Given the description of an element on the screen output the (x, y) to click on. 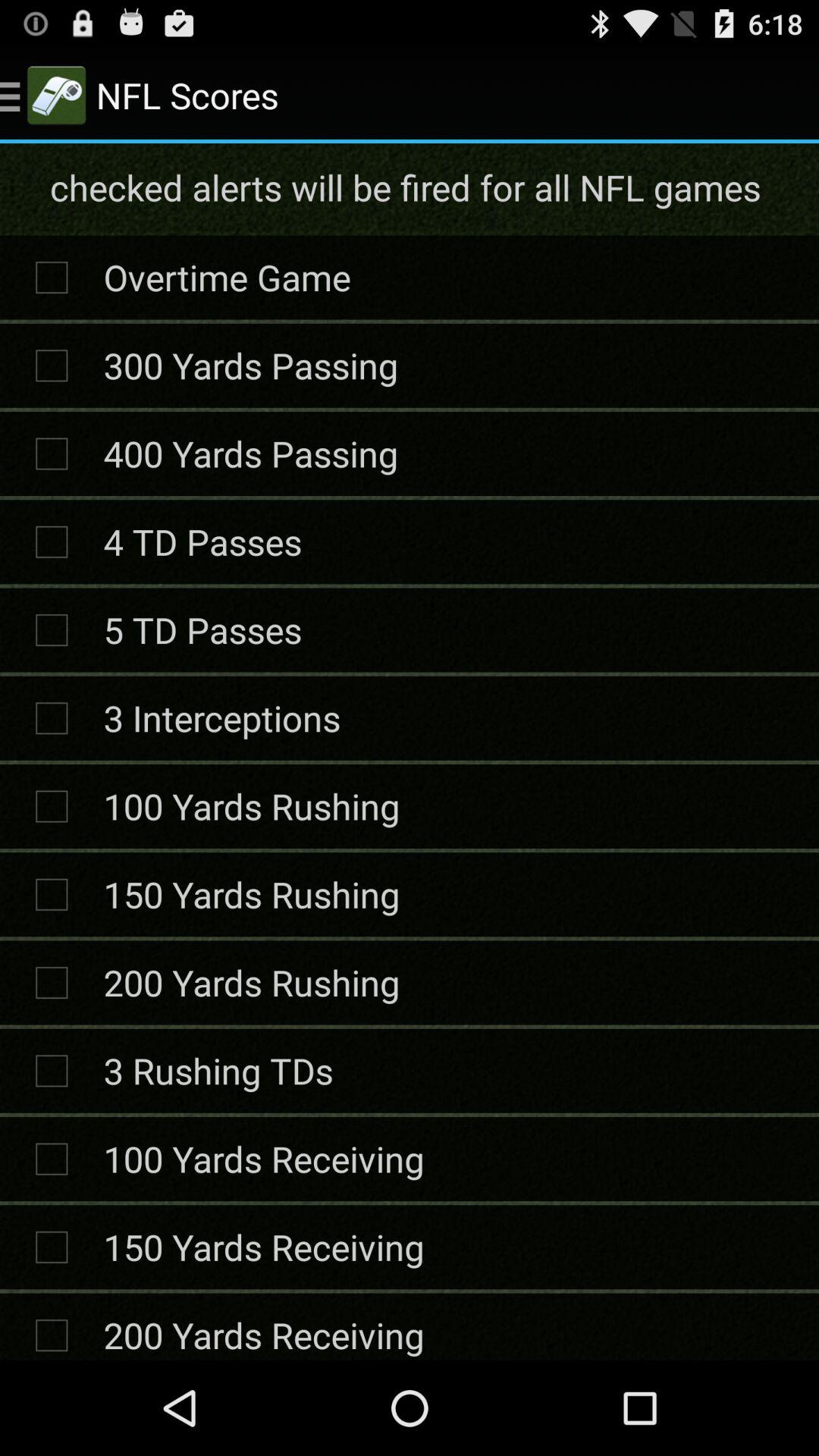
turn on the app above 100 yards receiving item (218, 1070)
